Given the description of an element on the screen output the (x, y) to click on. 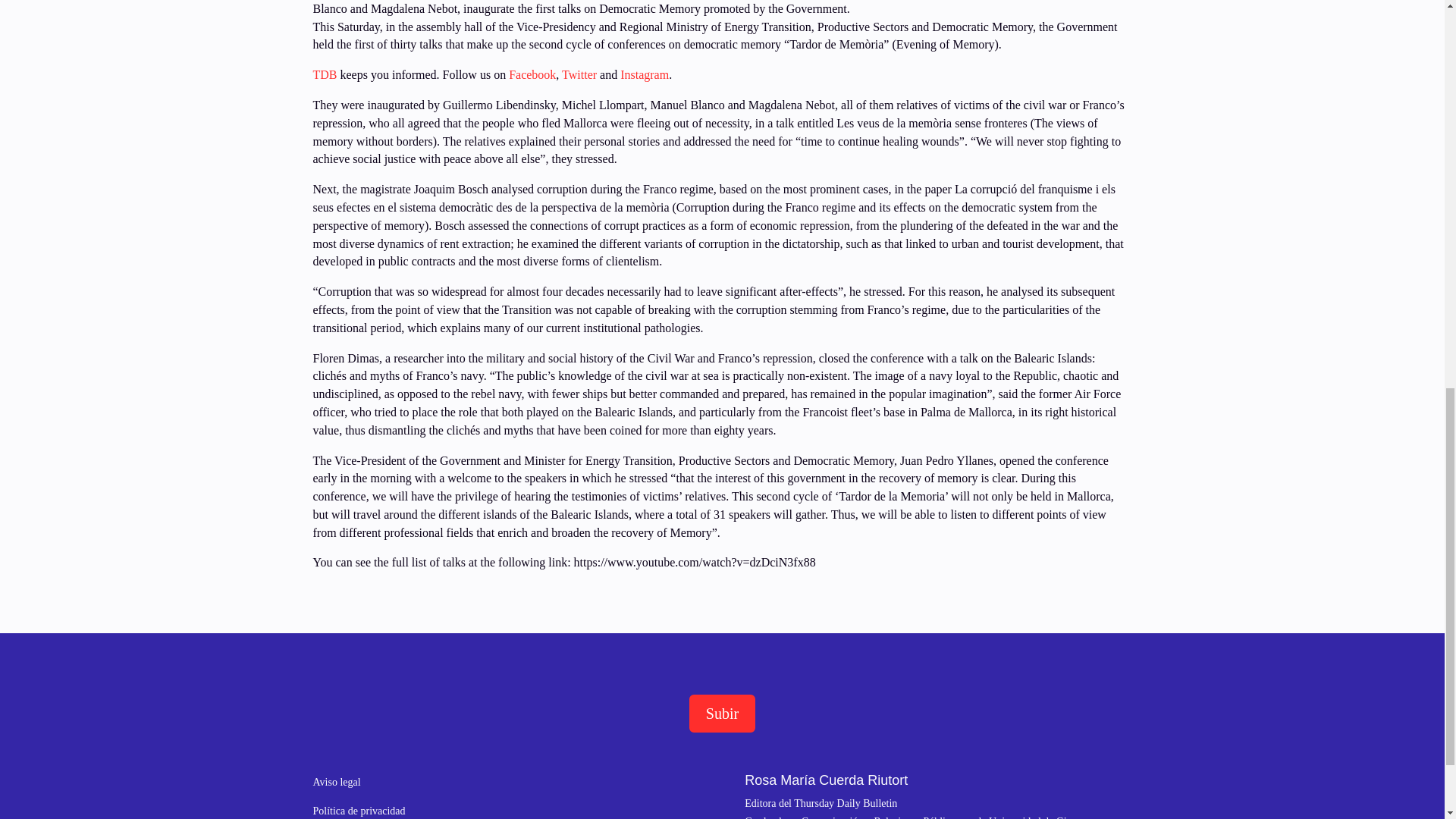
TDB (324, 74)
Aviso legal (336, 781)
Aviso legal (336, 781)
Subir (721, 713)
Twitter  (580, 74)
 Facebook (530, 74)
Instagram (644, 74)
